Given the description of an element on the screen output the (x, y) to click on. 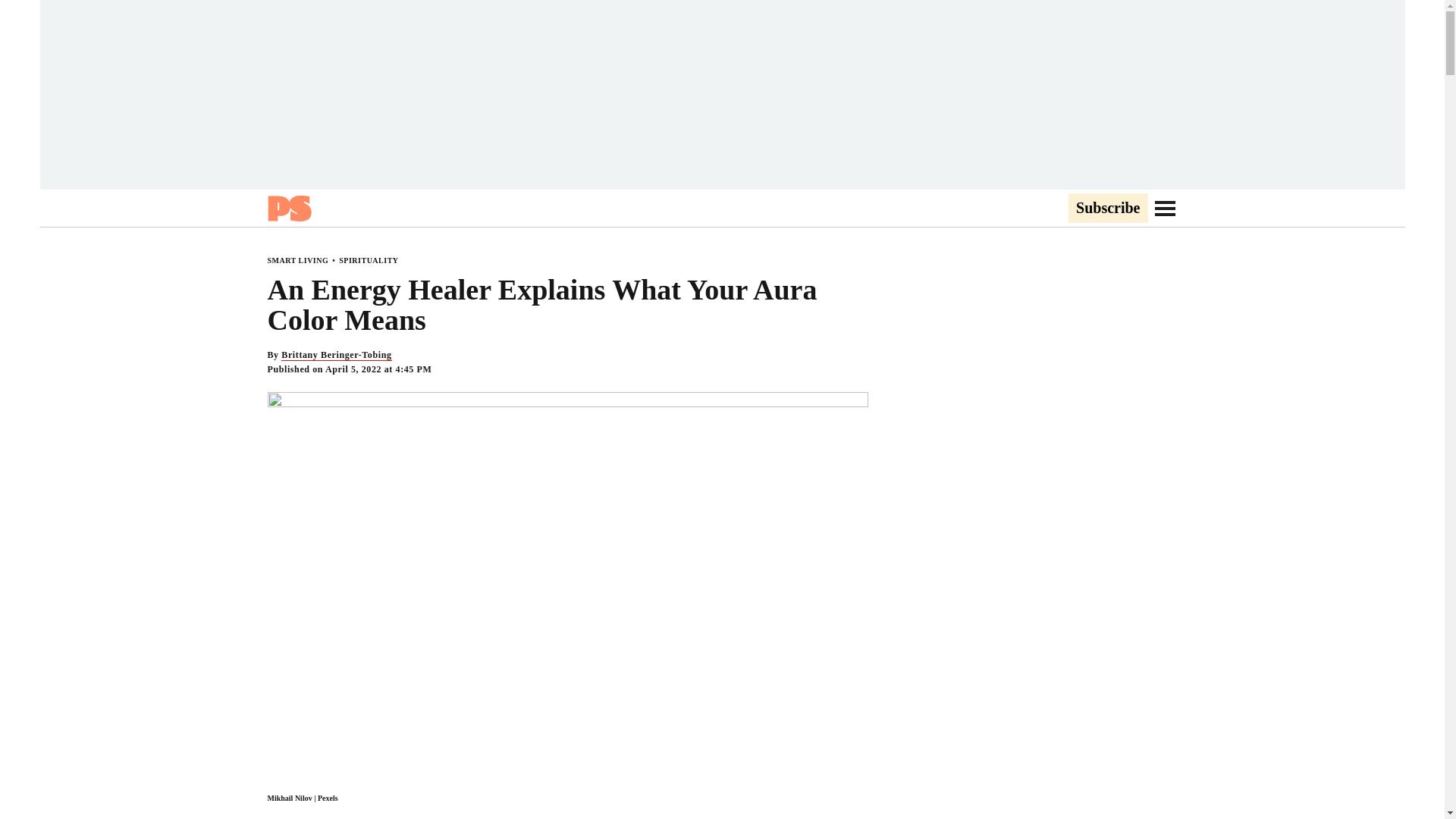
SMART LIVING (297, 260)
Go to Navigation (1164, 207)
Popsugar (288, 208)
Go to Navigation (1164, 207)
SPIRITUALITY (368, 260)
Subscribe (1107, 208)
Brittany Beringer-Tobing (336, 355)
